Given the description of an element on the screen output the (x, y) to click on. 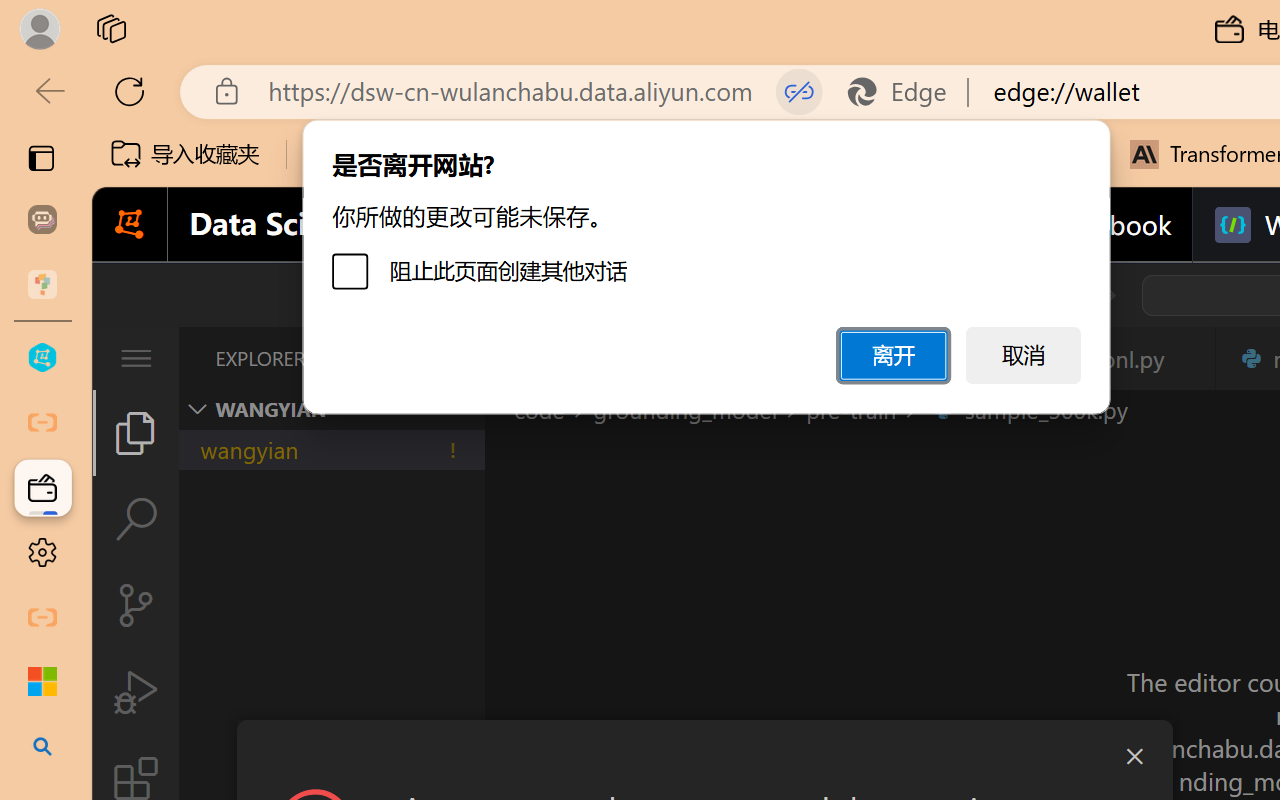
Close Dialog (1133, 756)
Microsoft security help and learning (42, 681)
Run and Debug (Ctrl+Shift+D) (135, 692)
Application Menu (135, 358)
Class: actions-container (703, 756)
wangyian_dsw - DSW (42, 357)
